Given the description of an element on the screen output the (x, y) to click on. 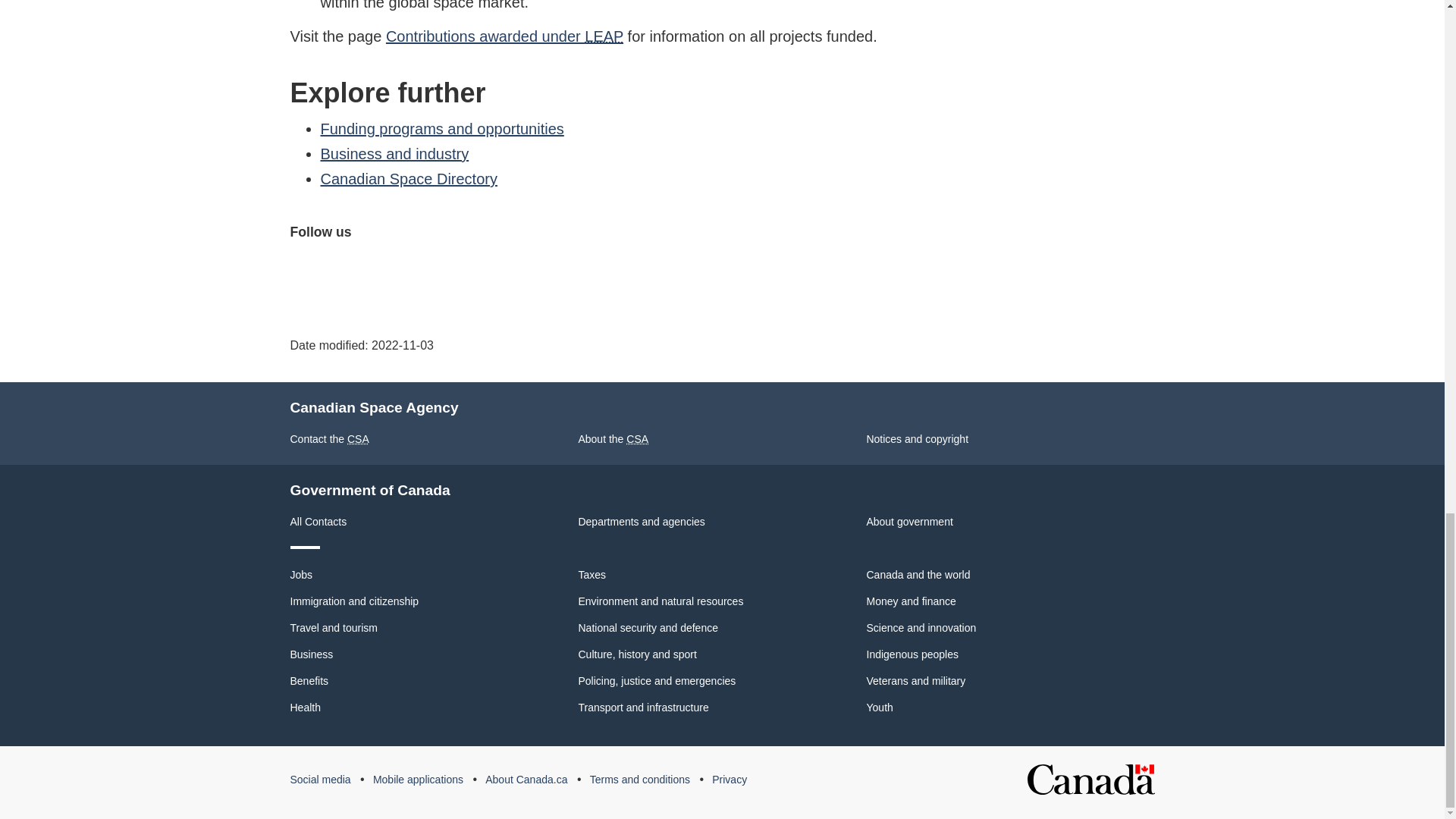
Business and industry (394, 153)
Instagram: canadianspaceagency (410, 269)
Funding programs and opportunities (441, 128)
Youtube: Canadianspaceagency (375, 269)
Linkedin: Canadian Space Agency (446, 269)
Contributions awarded under LEAP (504, 36)
Facebook: CanadianSpaceAgency (303, 269)
Canadian Space Directory (408, 178)
